Given the description of an element on the screen output the (x, y) to click on. 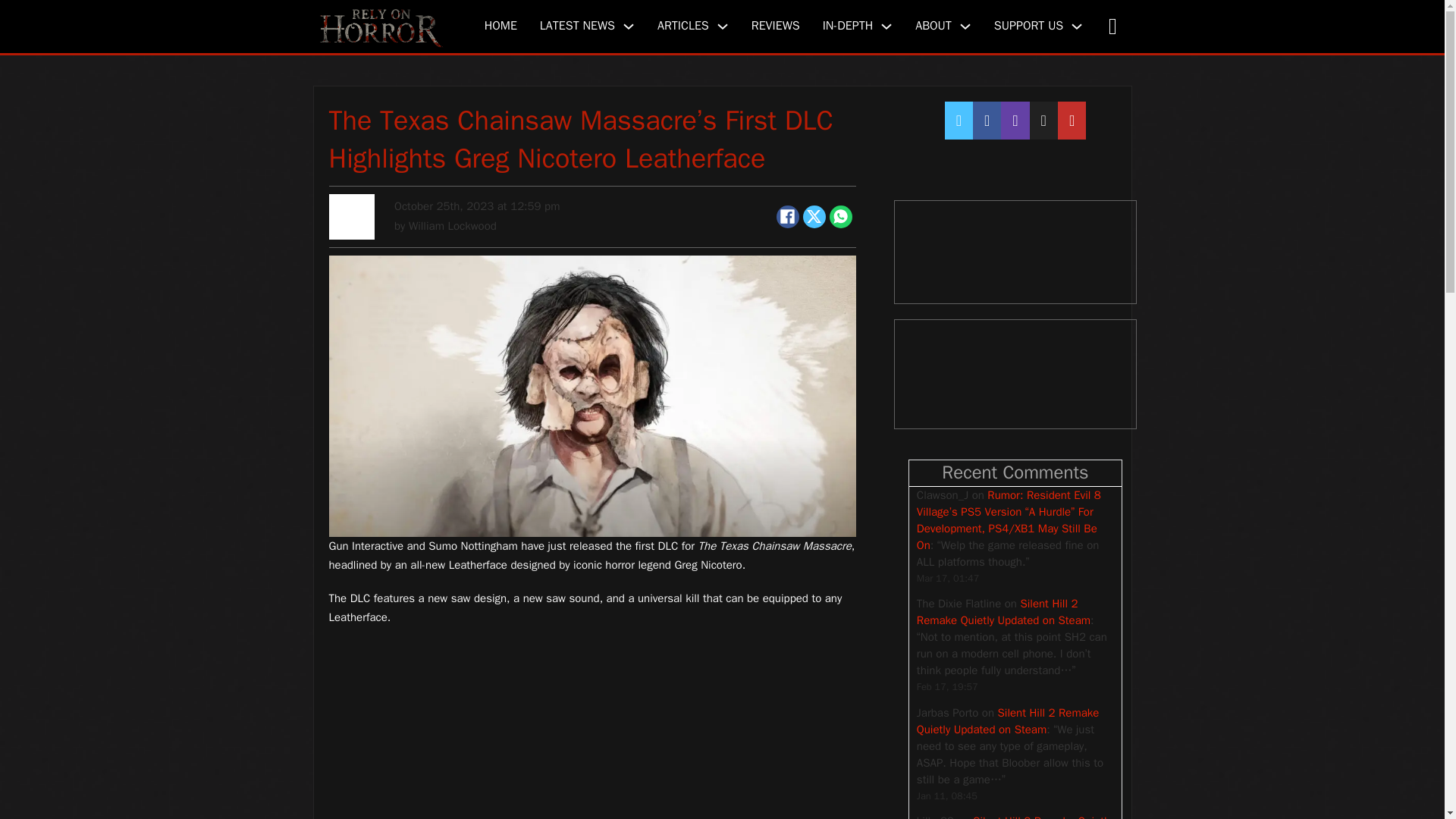
Discord (1015, 251)
ABOUT (933, 25)
ARTICLES (683, 25)
YouTube (1015, 374)
IN-DEPTH (847, 25)
LATEST NEWS (577, 25)
REVIEWS (775, 25)
Posts by William Lockwood (452, 225)
HOME (500, 25)
